Given the description of an element on the screen output the (x, y) to click on. 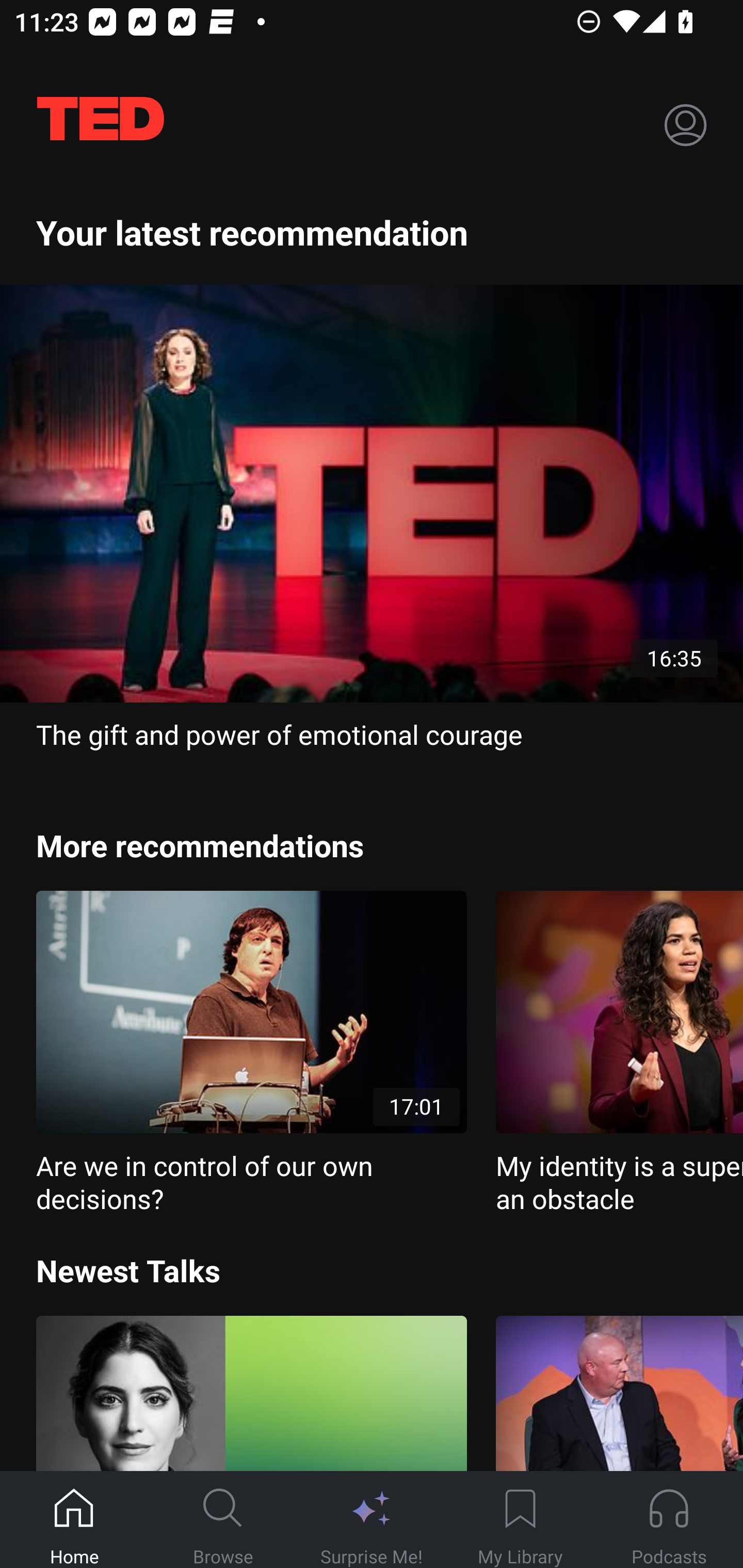
17:01 Are we in control of our own decisions? (251, 1053)
My identity is a superpower -- not an obstacle (619, 1053)
Home (74, 1520)
Browse (222, 1520)
Surprise Me! (371, 1520)
My Library (519, 1520)
Podcasts (668, 1520)
